Given the description of an element on the screen output the (x, y) to click on. 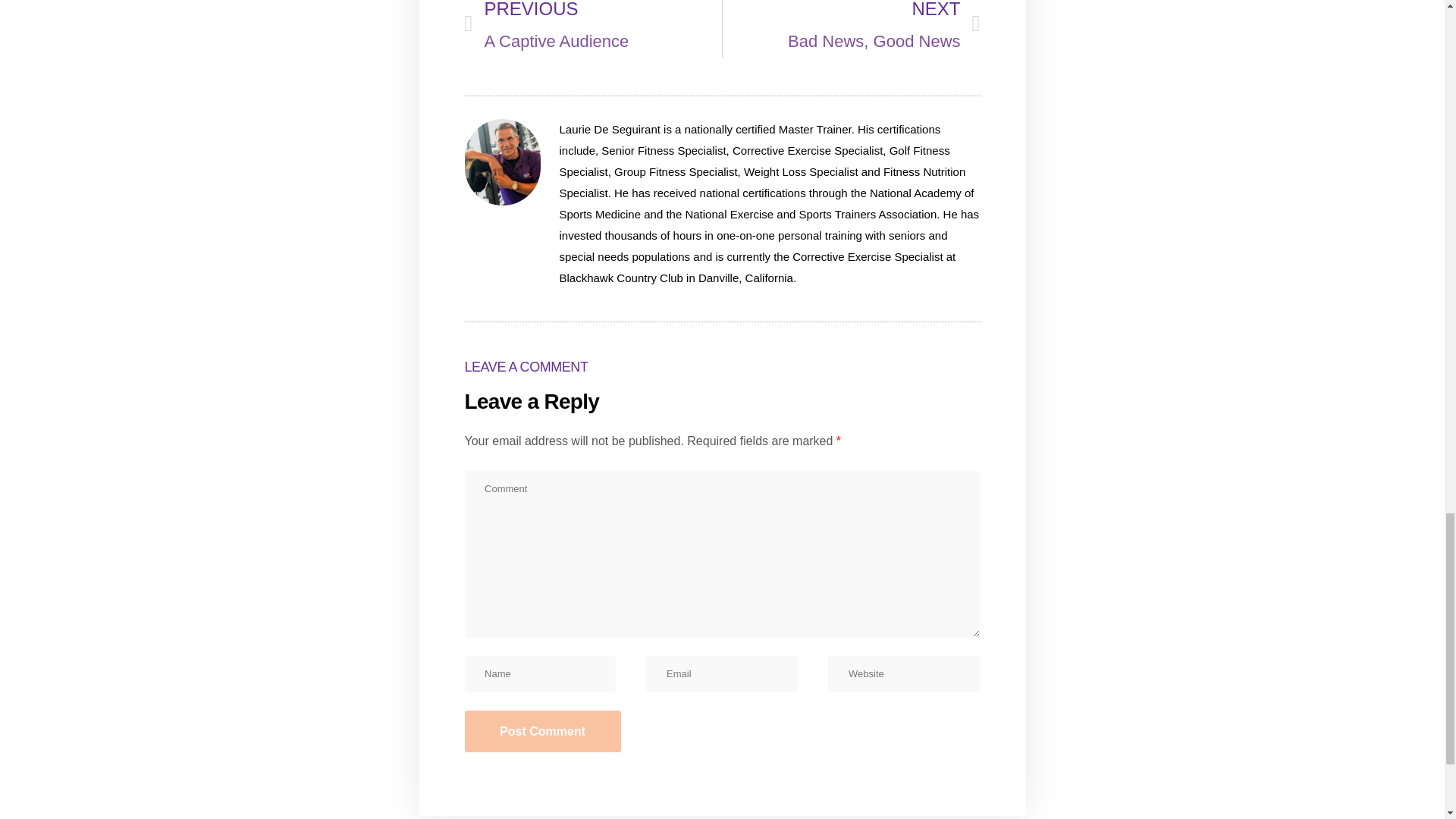
Post Comment (850, 28)
Post Comment (542, 730)
